Given the description of an element on the screen output the (x, y) to click on. 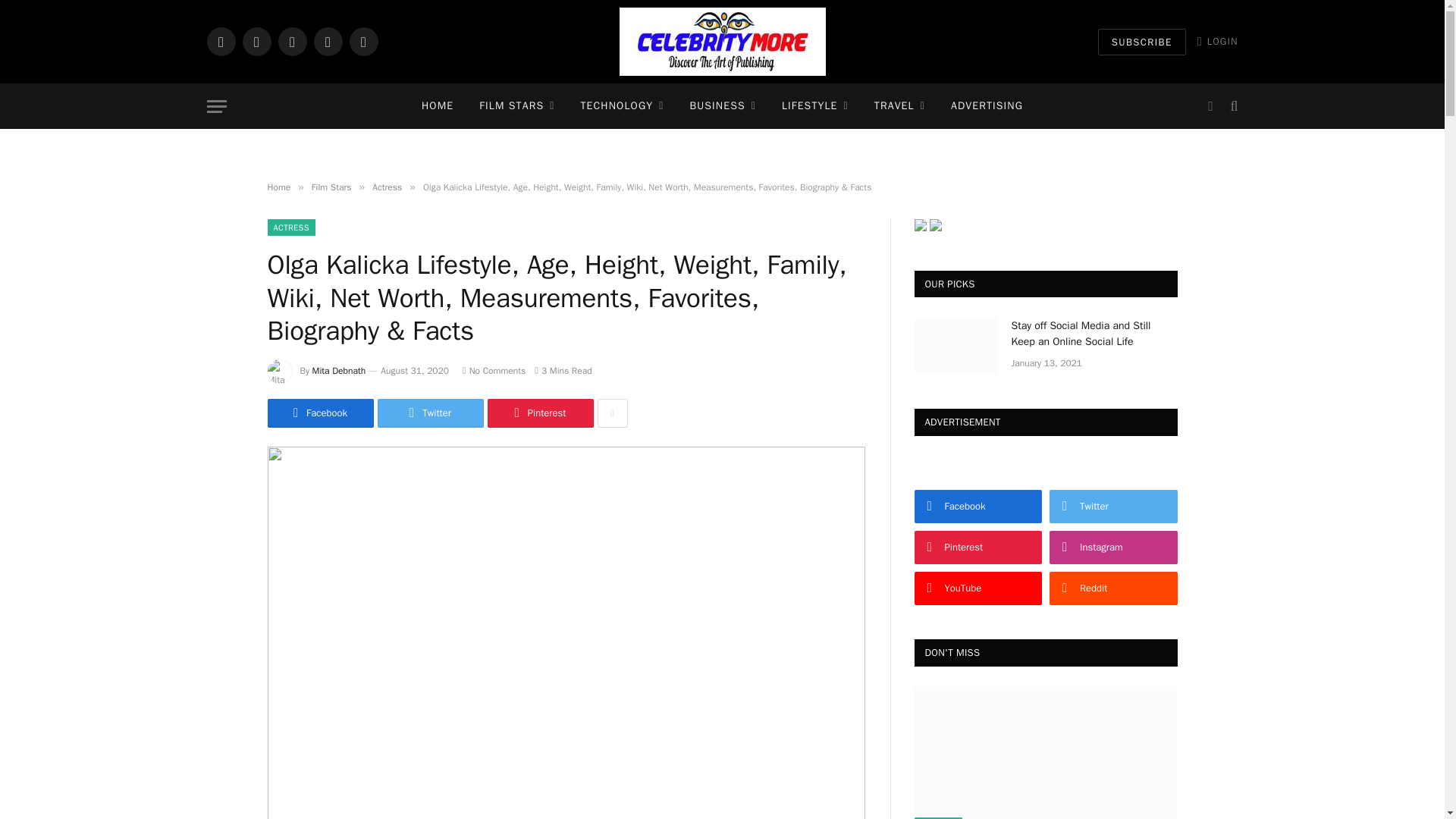
LOGIN (1217, 41)
HOME (437, 105)
FILM STARS (516, 105)
TECHNOLOGY (622, 105)
SUBSCRIBE (1141, 41)
Facebook (220, 41)
Pinterest (328, 41)
BUSINESS (722, 105)
YouTube (363, 41)
CelebrityMore.Com (721, 41)
